Given the description of an element on the screen output the (x, y) to click on. 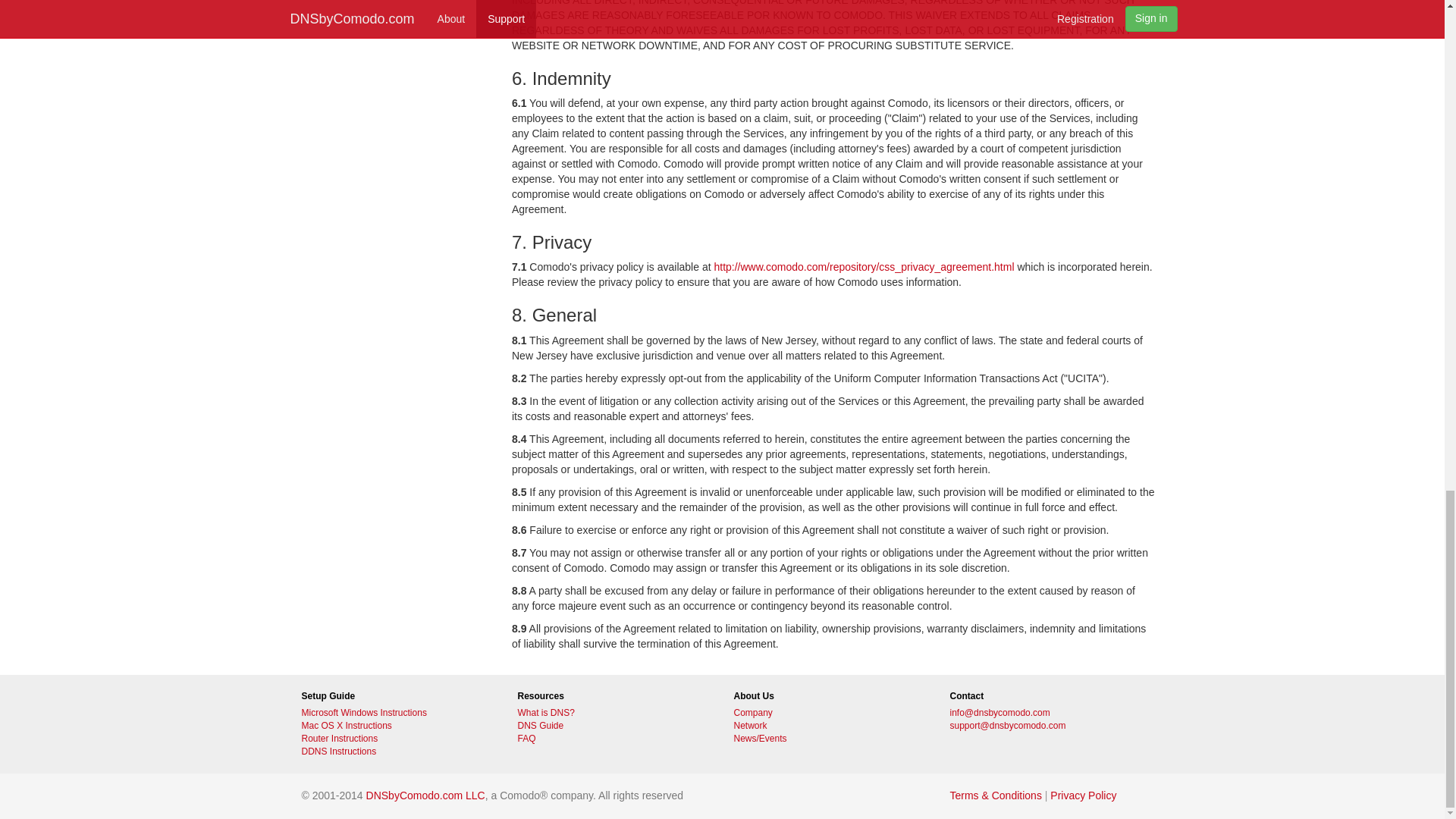
About Us (830, 696)
FAQ (613, 738)
DNS Guide (613, 725)
Setup Guide (398, 696)
DDNS Instructions (398, 751)
Company (830, 712)
Microsoft Windows Instructions (398, 712)
DNSbyComodo.com LLC (425, 795)
Network (830, 725)
Resources (613, 696)
Privacy Policy (1082, 795)
Mac OS X Instructions (398, 725)
Contact (1045, 696)
What is DNS? (613, 712)
Router Instructions (398, 738)
